Given the description of an element on the screen output the (x, y) to click on. 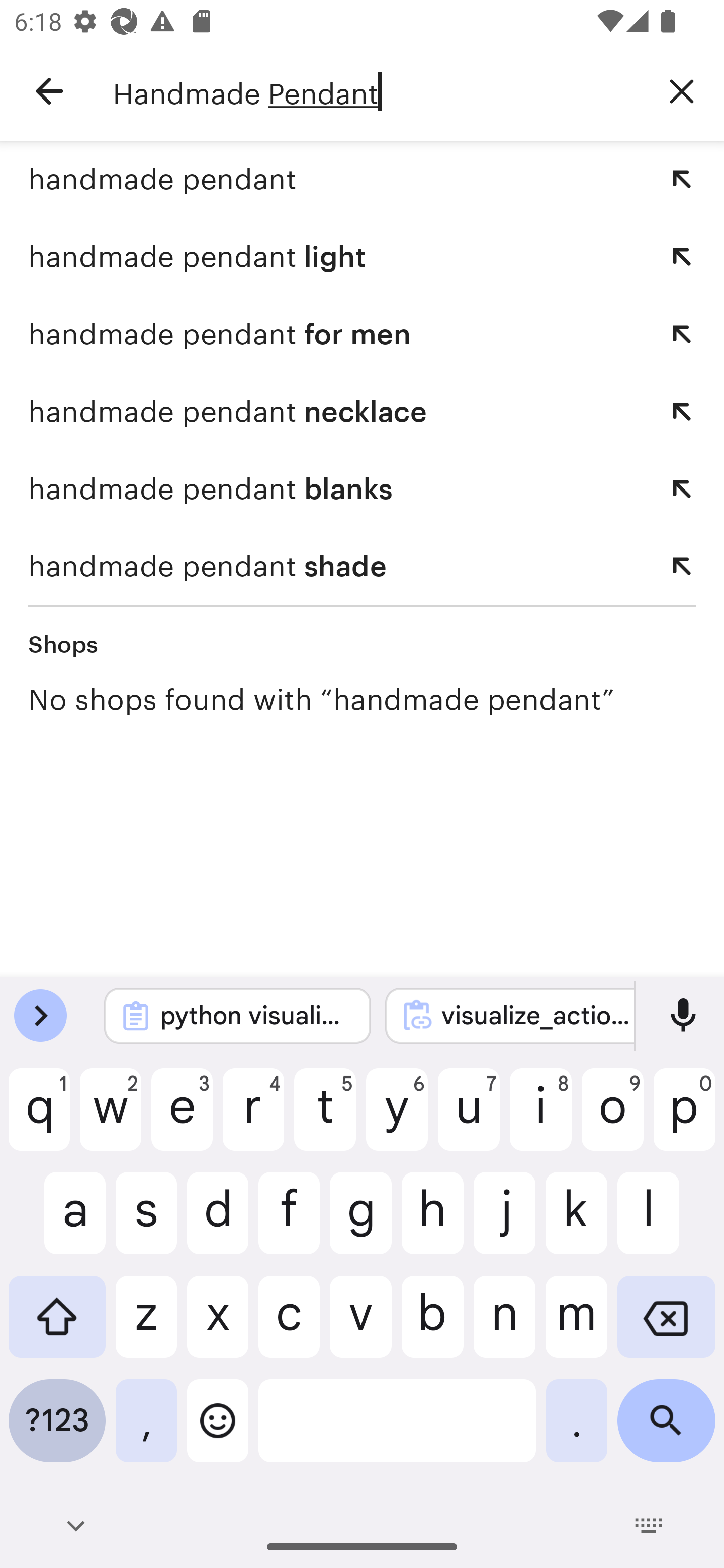
Navigate up (49, 91)
Clear query (681, 90)
Handmade Pendant (375, 91)
